Given the description of an element on the screen output the (x, y) to click on. 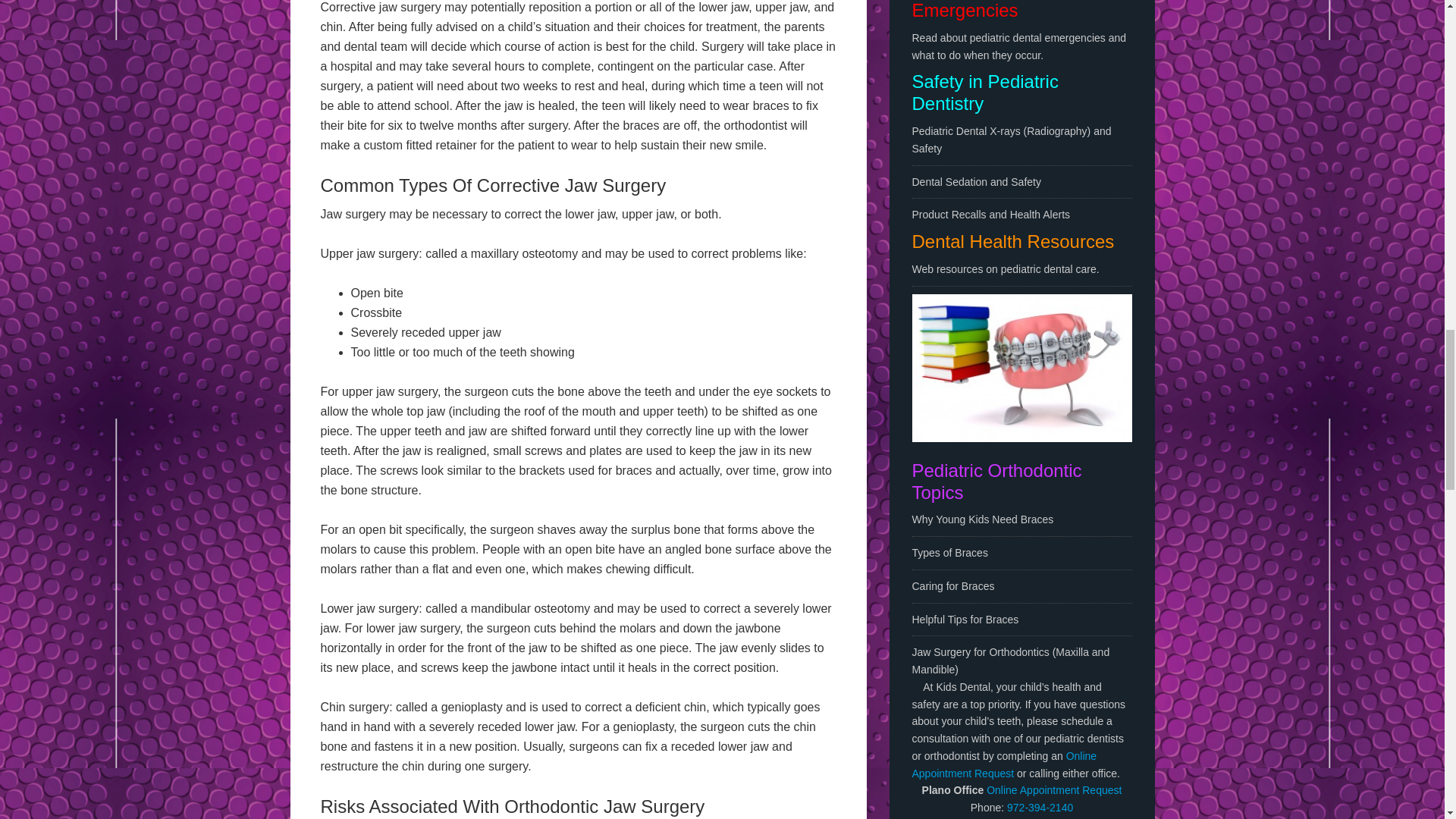
Kidsdental orthodontics (1021, 368)
